Given the description of an element on the screen output the (x, y) to click on. 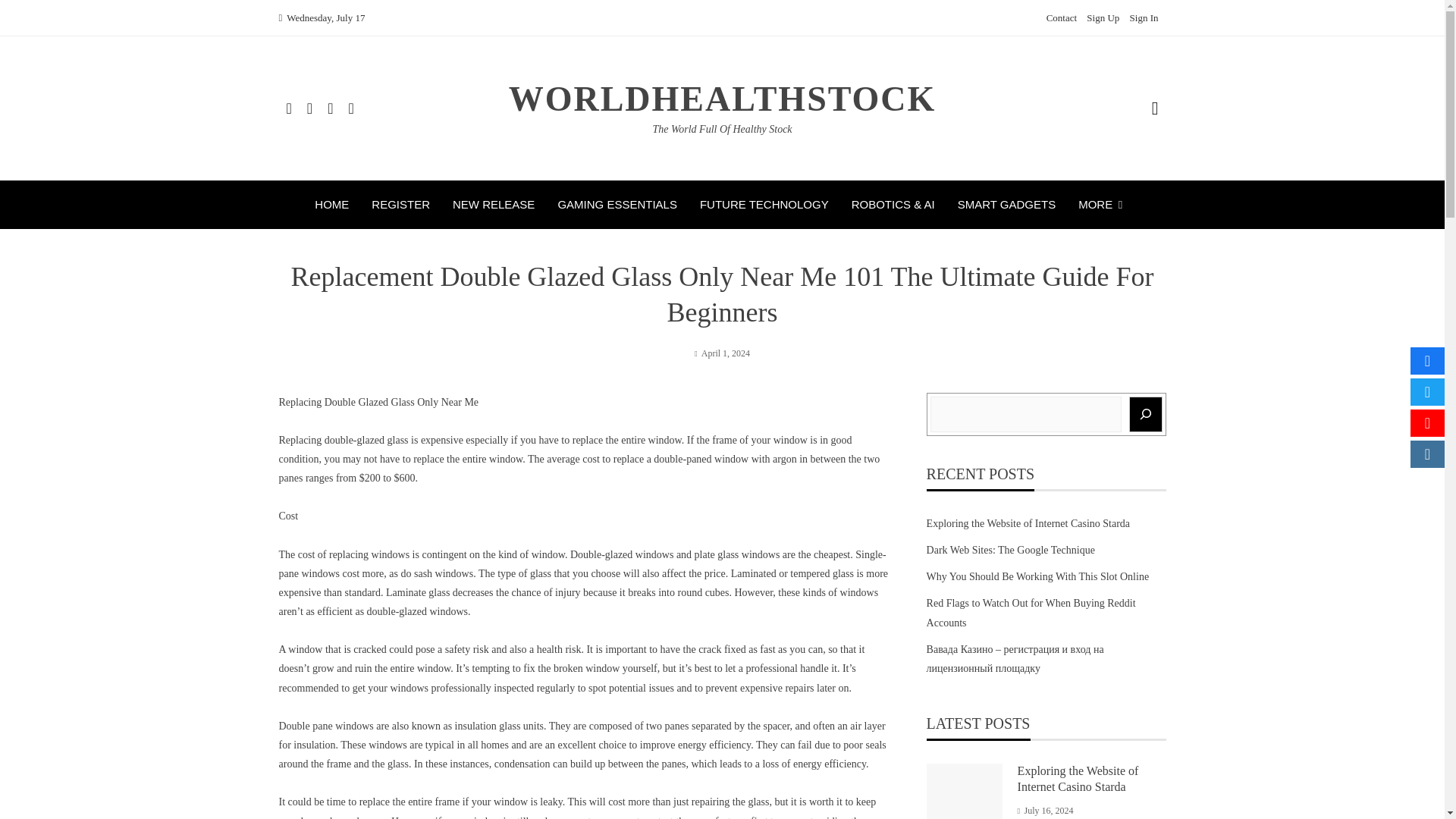
Sign Up (1102, 17)
FUTURE TECHNOLOGY (764, 204)
The World Full Of Healthy Stock (722, 129)
WORLDHEALTHSTOCK (722, 98)
Exploring the Website of Internet Casino Starda (1077, 778)
Dark Web Sites: The Google Technique (1010, 550)
Contact (1061, 17)
Sign In (1143, 17)
GAMING ESSENTIALS (617, 204)
Why You Should Be Working With This Slot Online (1038, 576)
REGISTER (400, 204)
Red Flags to Watch Out for When Buying Reddit Accounts (1030, 612)
HOME (331, 204)
NEW RELEASE (493, 204)
Exploring the Website of Internet Casino Starda (1027, 523)
